Given the description of an element on the screen output the (x, y) to click on. 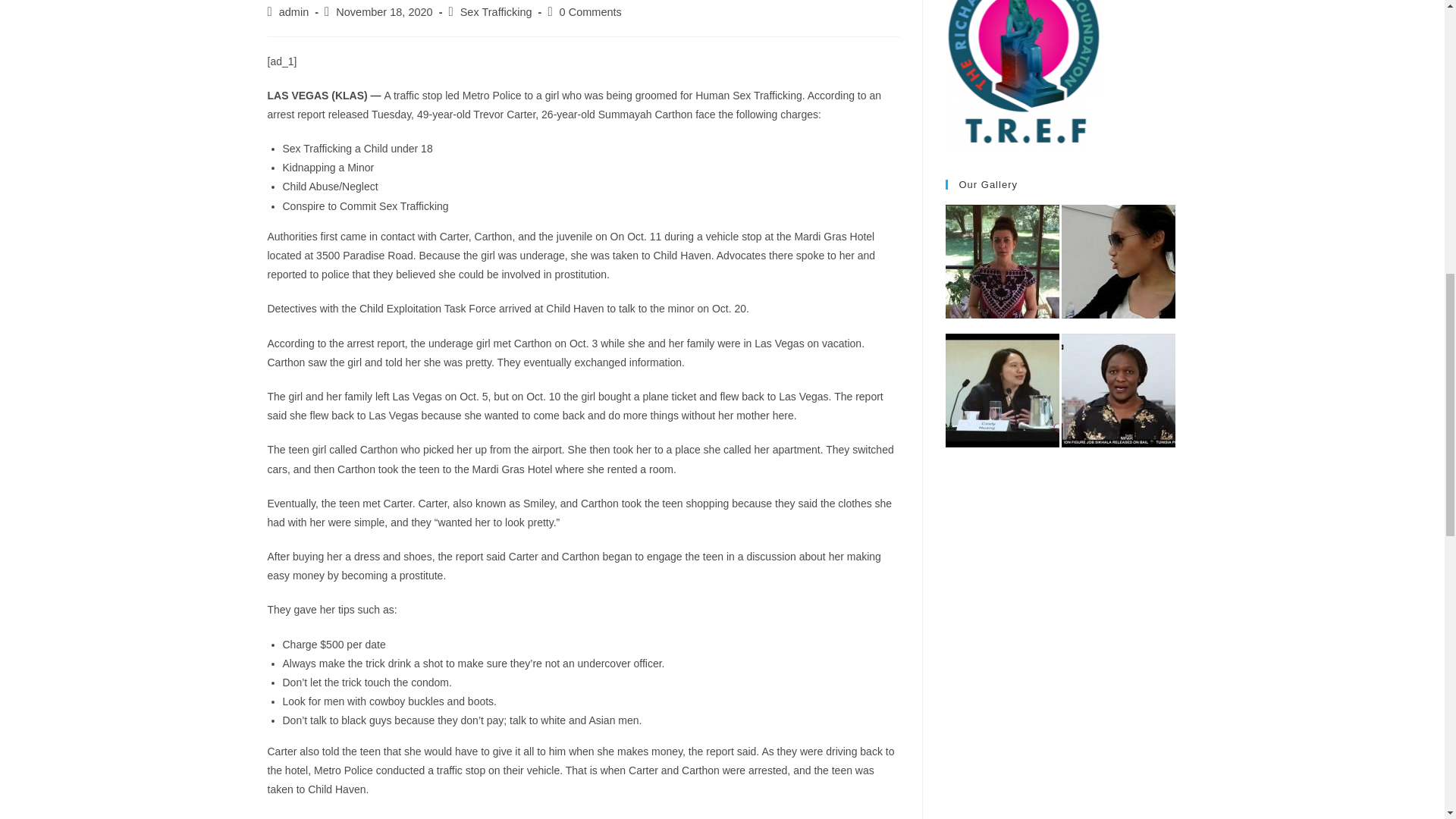
0 Comments (590, 11)
admin (293, 11)
Sex Trafficking (496, 11)
Posts by admin (293, 11)
